Given the description of an element on the screen output the (x, y) to click on. 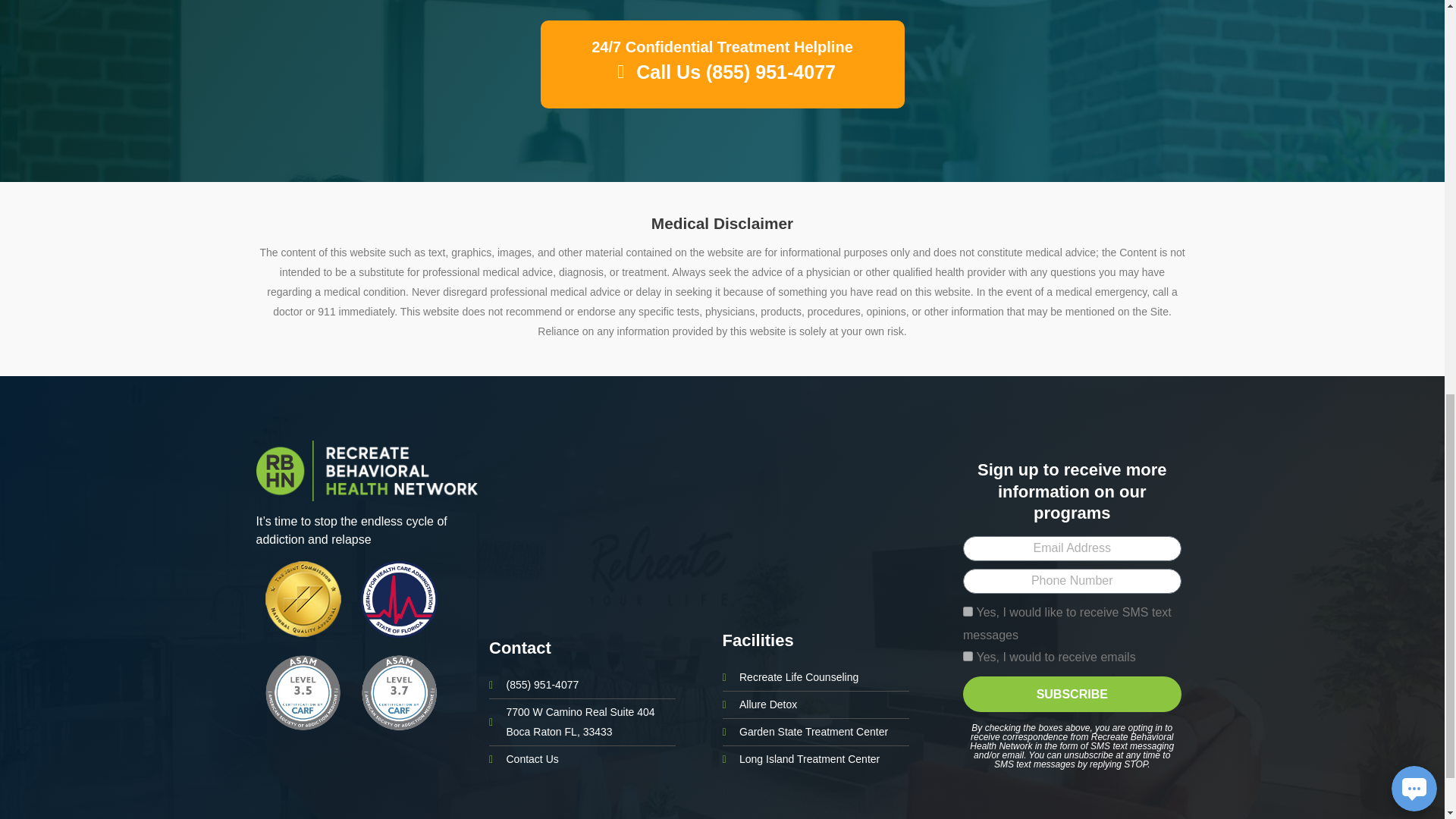
Yes, I would to receive emails (967, 655)
Yes, I would like to receive SMS text messages (967, 611)
